Given the description of an element on the screen output the (x, y) to click on. 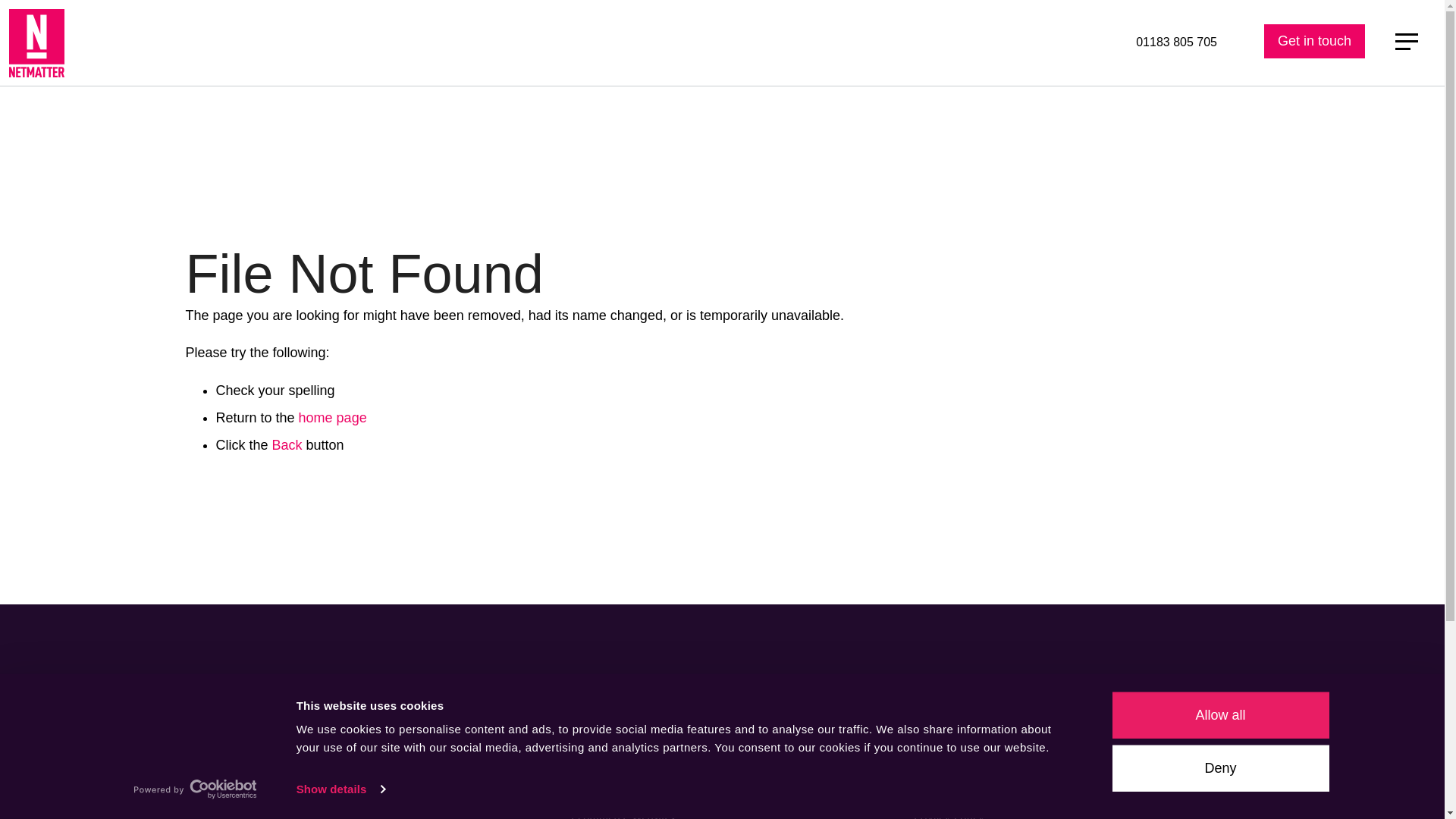
Show details (340, 789)
Allow all (1219, 715)
Deny (1219, 768)
